Given the description of an element on the screen output the (x, y) to click on. 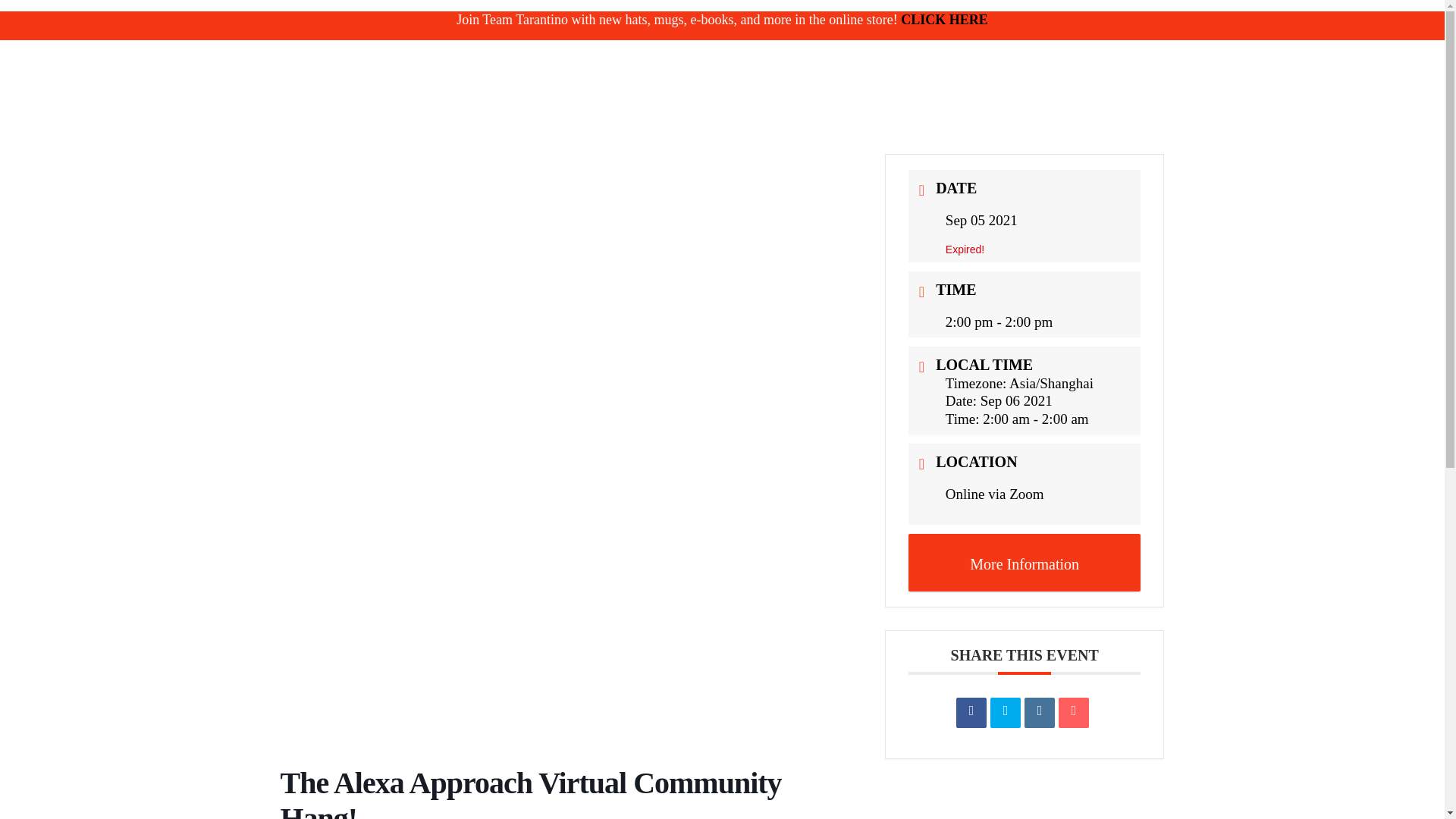
More Information (1024, 562)
CLICK HERE (944, 19)
Email (1073, 712)
Share on Facebook (971, 712)
Linkedin (1039, 712)
Tweet (1005, 712)
